Given the description of an element on the screen output the (x, y) to click on. 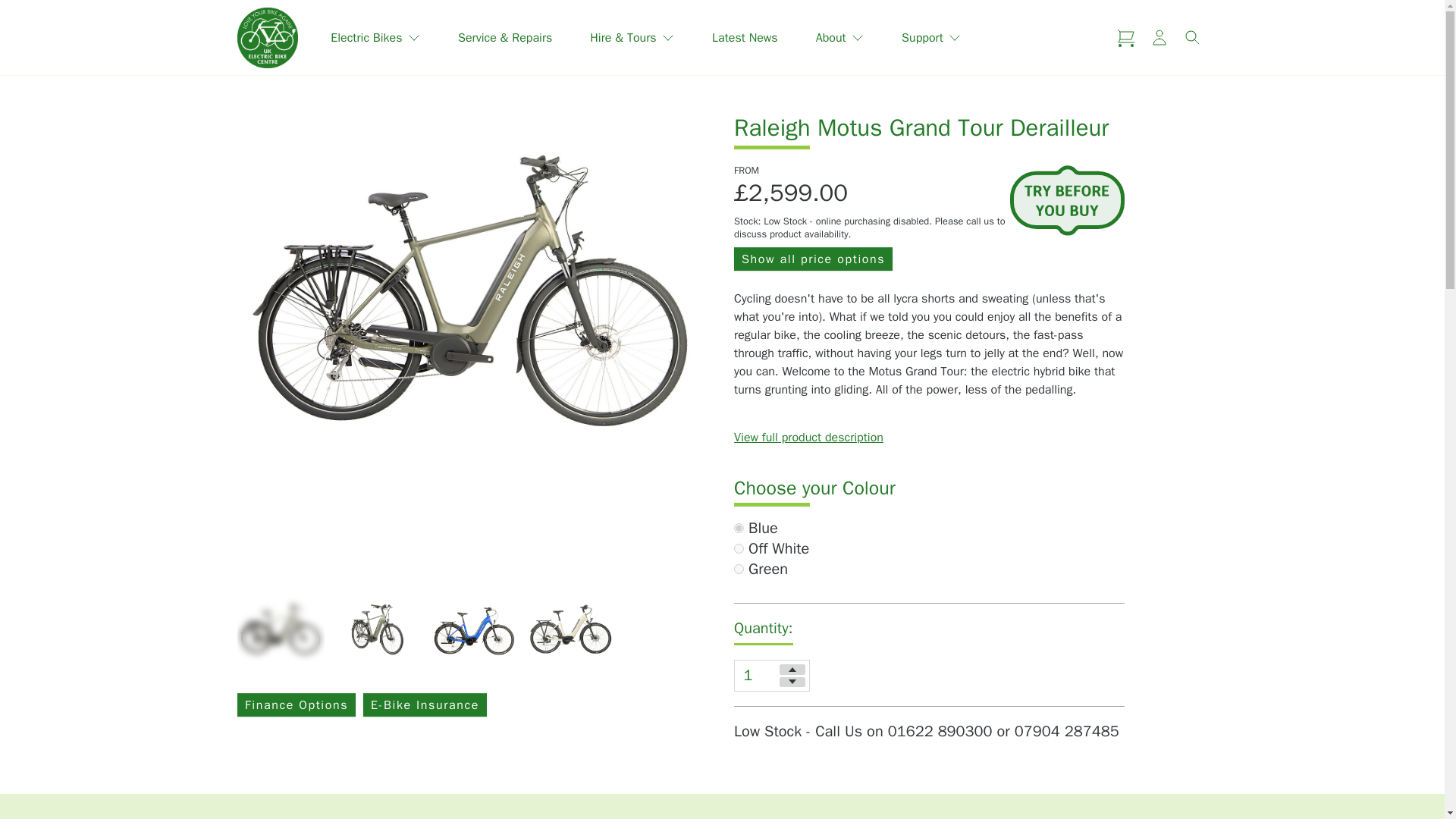
9 (738, 548)
1 (738, 528)
Electric Bikes (375, 38)
1 (771, 676)
25 (738, 569)
